Given the description of an element on the screen output the (x, y) to click on. 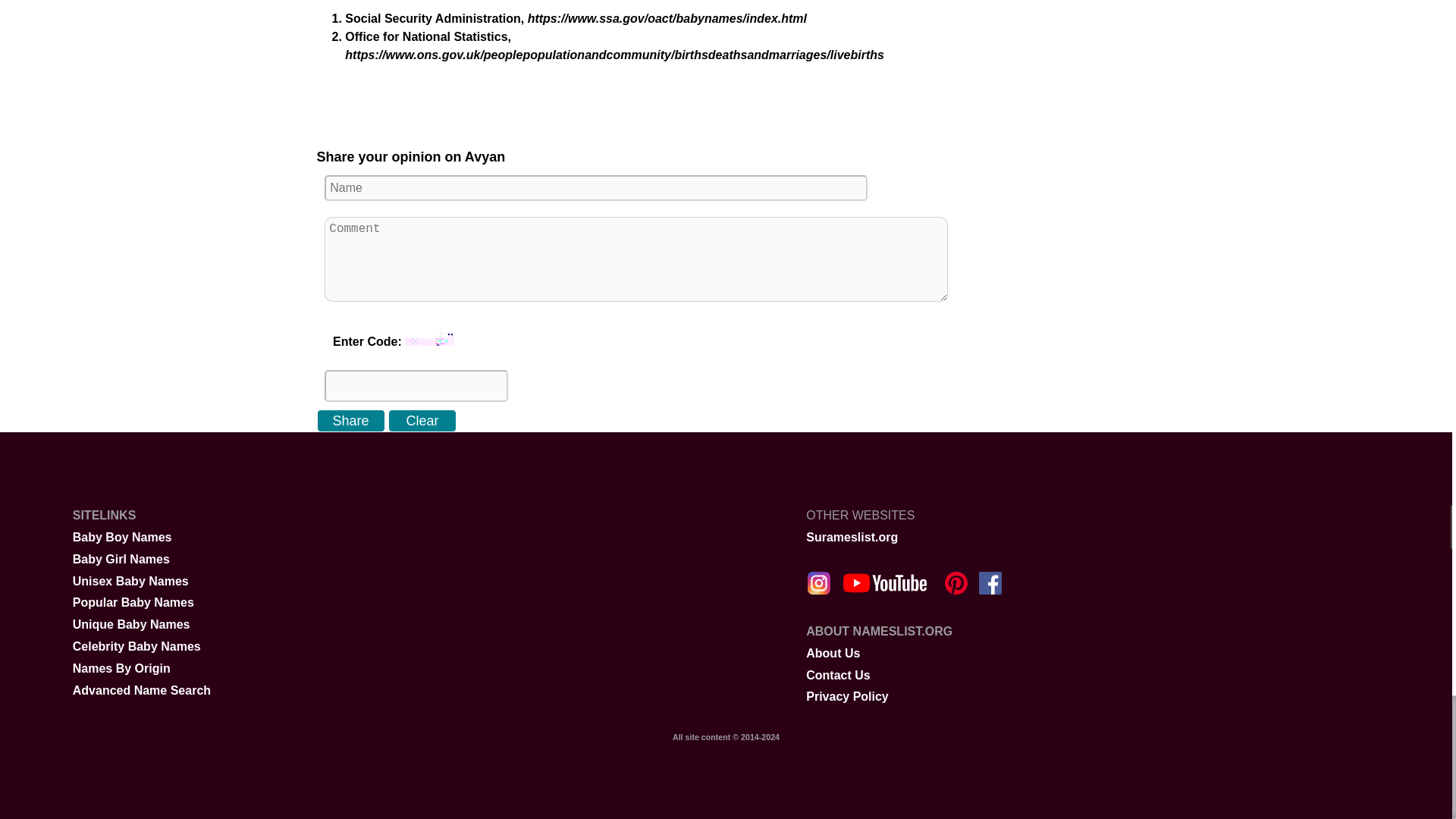
Clear (422, 420)
Share (351, 420)
